Given the description of an element on the screen output the (x, y) to click on. 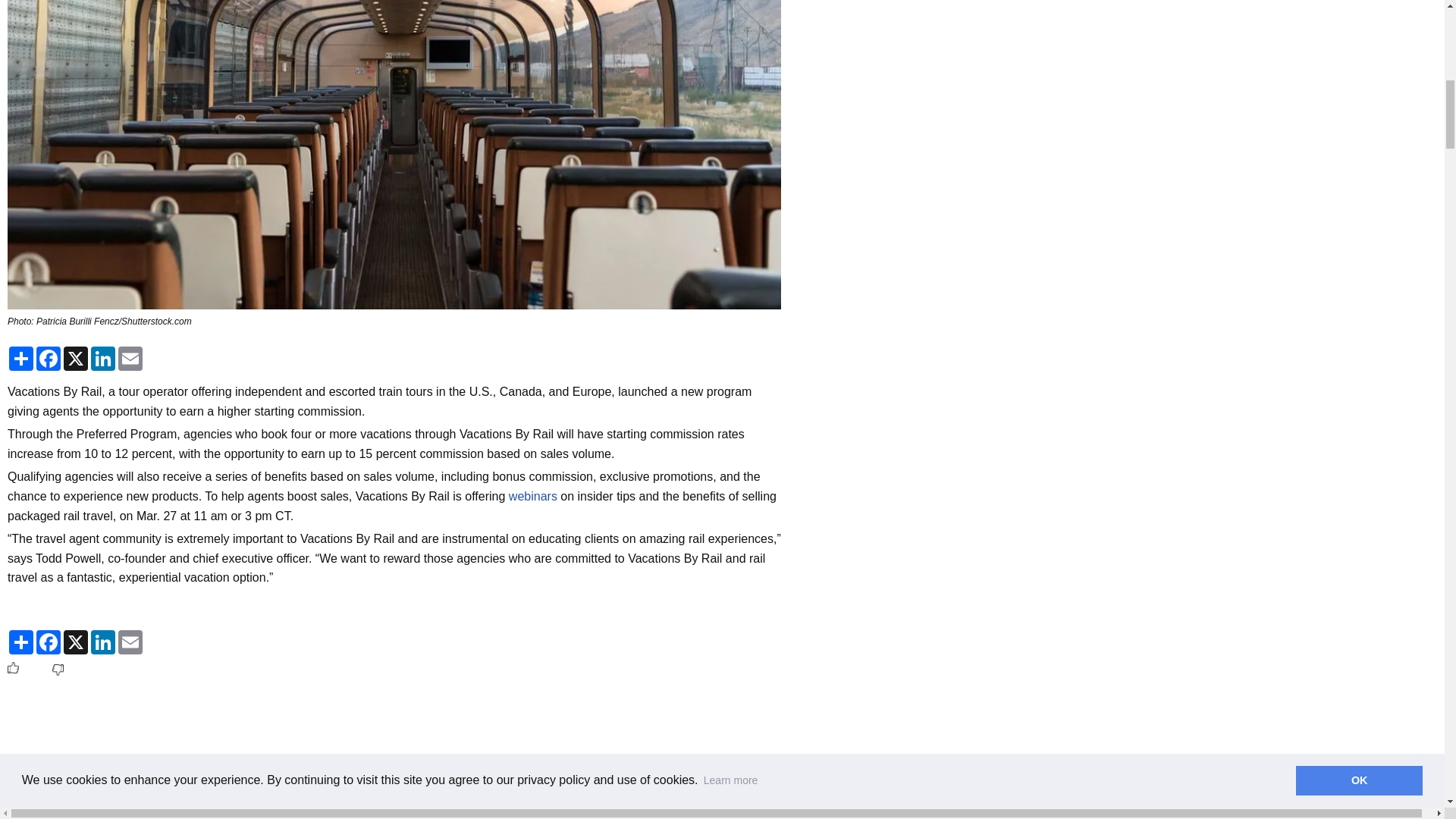
Facebook (48, 641)
LinkedIn (102, 641)
Email (130, 641)
webinars (532, 495)
X (75, 641)
LinkedIn (102, 358)
Email (130, 358)
Facebook (48, 358)
X (75, 358)
